Given the description of an element on the screen output the (x, y) to click on. 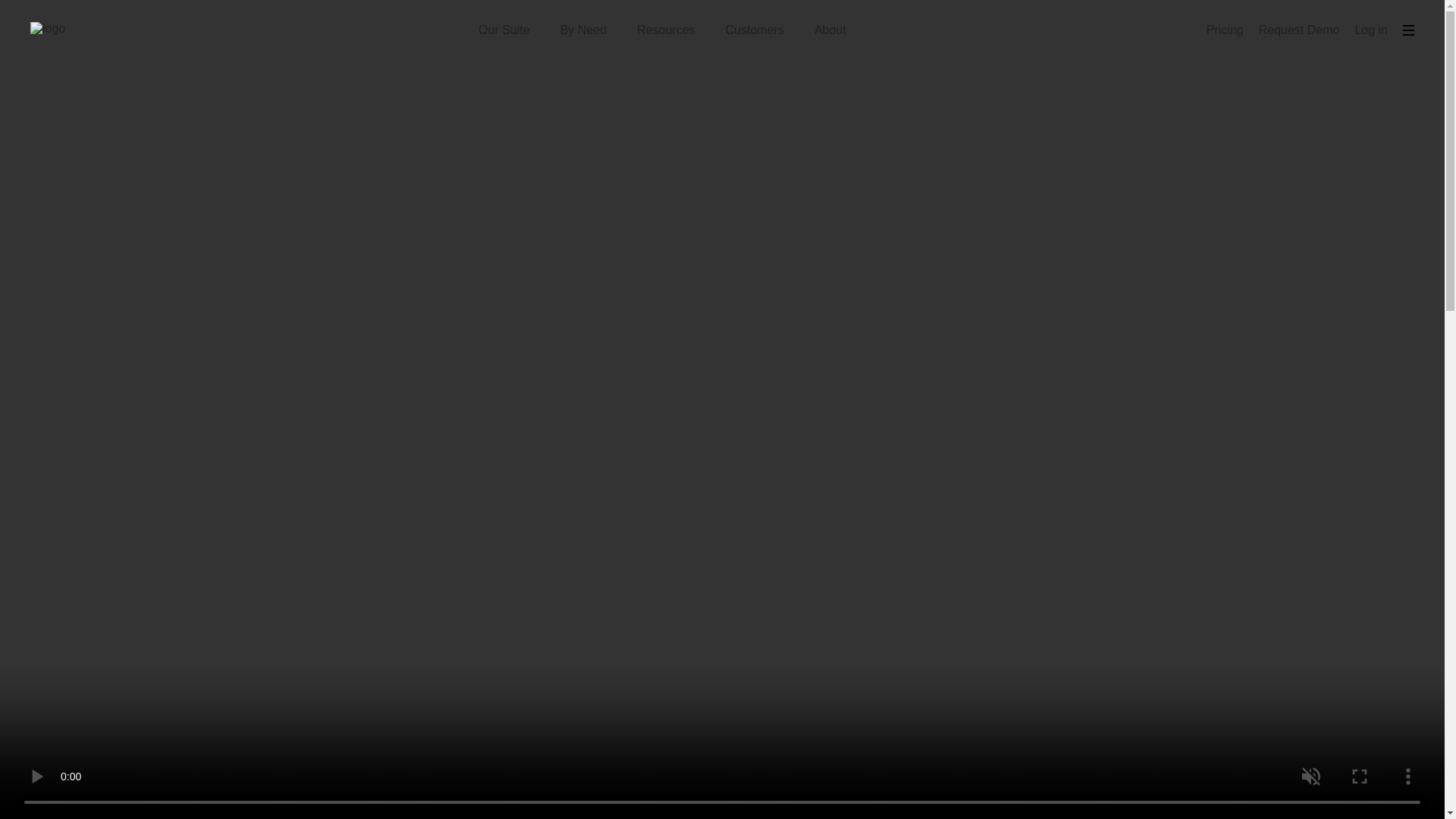
REQUEST DEMO (722, 633)
influencer marketing (523, 792)
Request Demo (1299, 29)
Log in (1370, 29)
Pricing (1225, 29)
Customers (754, 29)
